Given the description of an element on the screen output the (x, y) to click on. 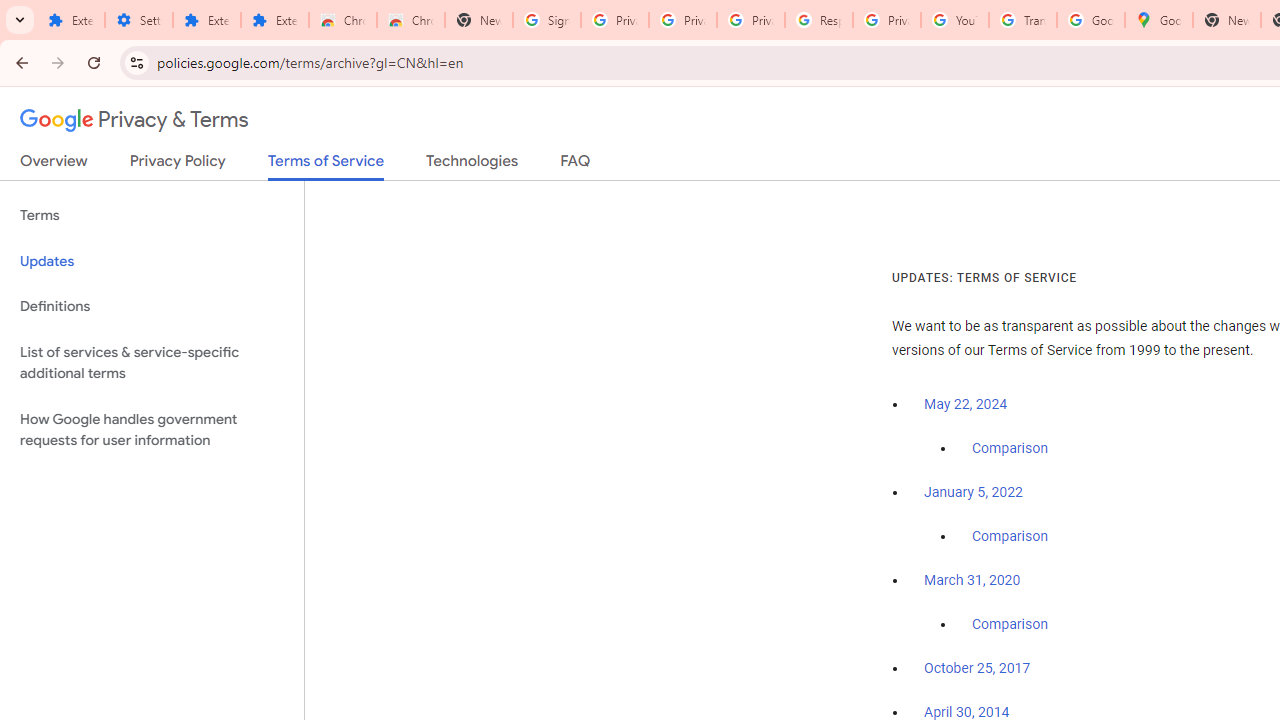
How Google handles government requests for user information (152, 429)
New Tab (1226, 20)
Extensions (70, 20)
January 5, 2022 (973, 492)
YouTube (954, 20)
Chrome Web Store (342, 20)
Definitions (152, 306)
